Given the description of an element on the screen output the (x, y) to click on. 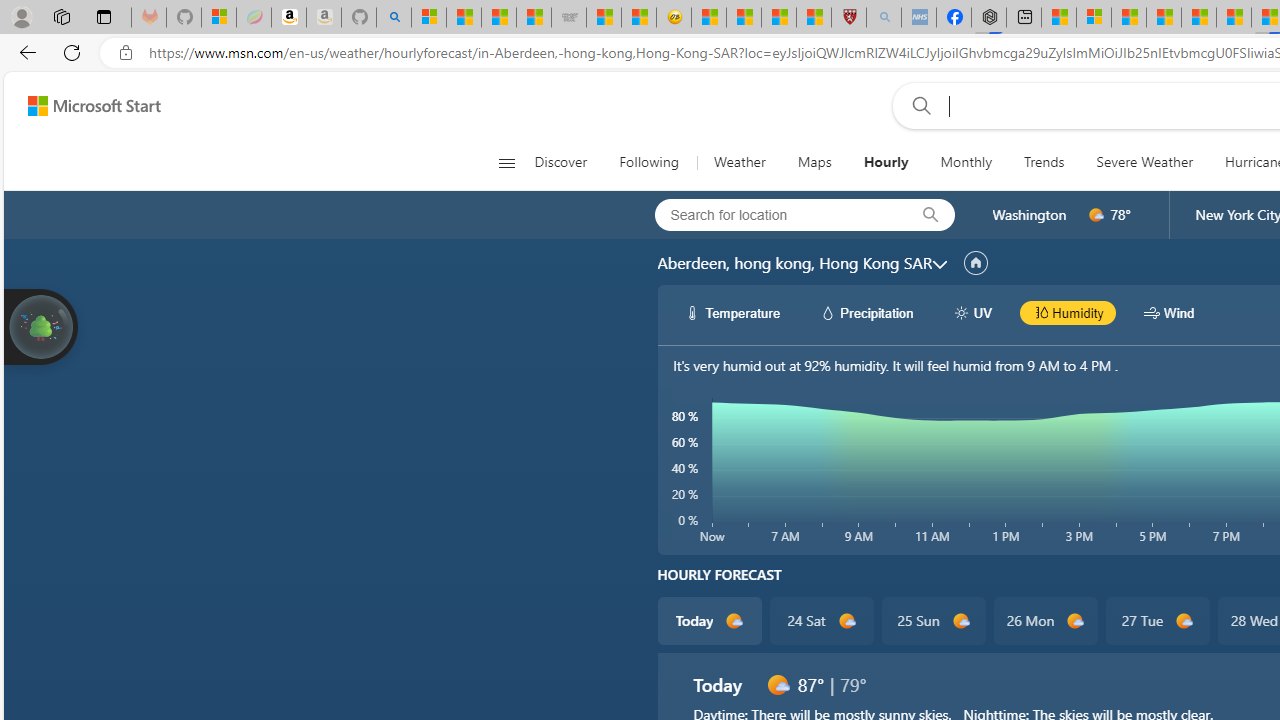
Join us in planting real trees to help our planet! (40, 327)
hourlyChart/windWhite Wind (1169, 312)
Severe Weather (1144, 162)
12 Popular Science Lies that Must be Corrected (813, 17)
27 Tue d1000 (1156, 620)
d1000 (777, 684)
locationBar/search (930, 215)
